Given the description of an element on the screen output the (x, y) to click on. 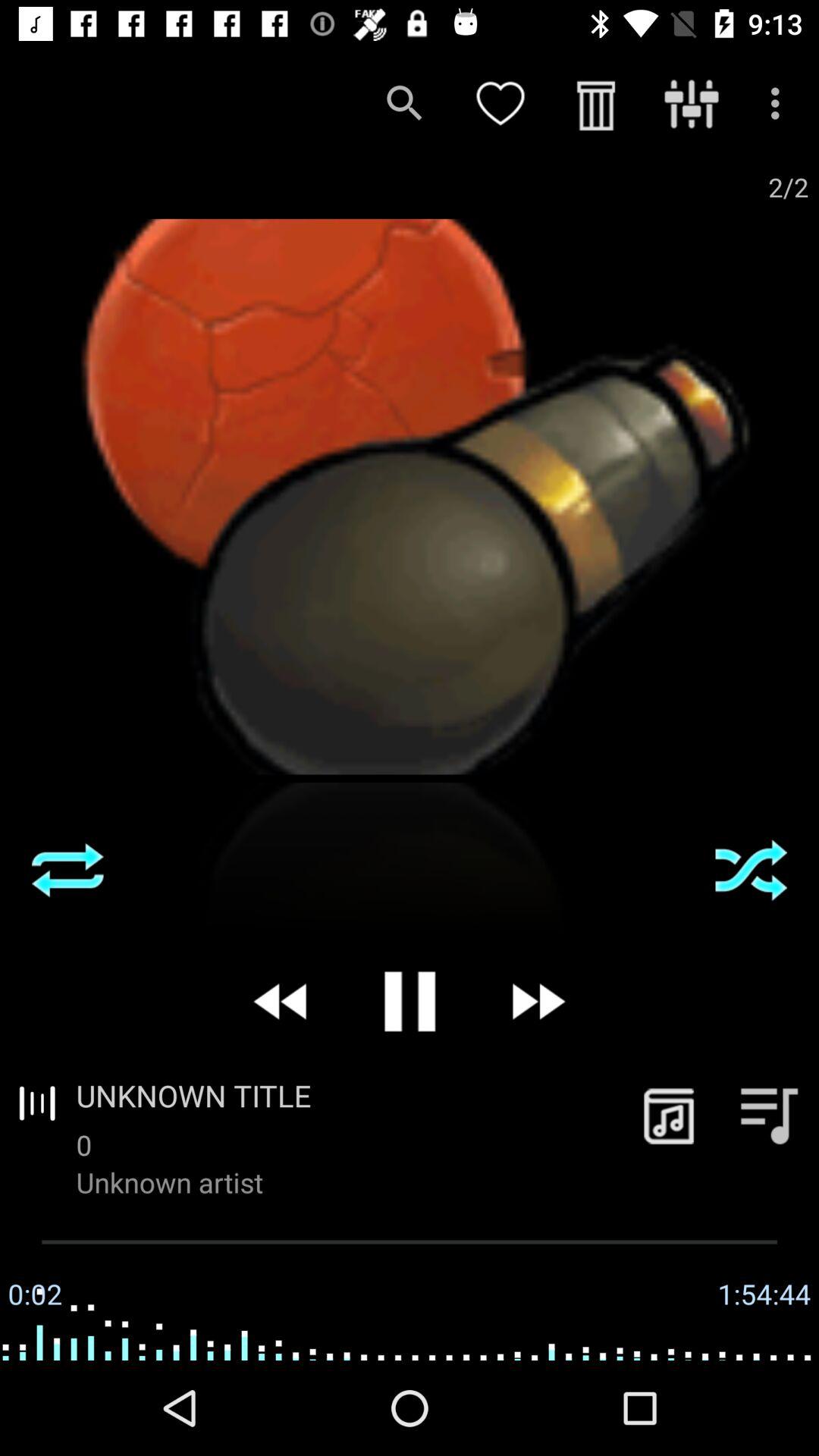
select item above unknown title (281, 1001)
